Given the description of an element on the screen output the (x, y) to click on. 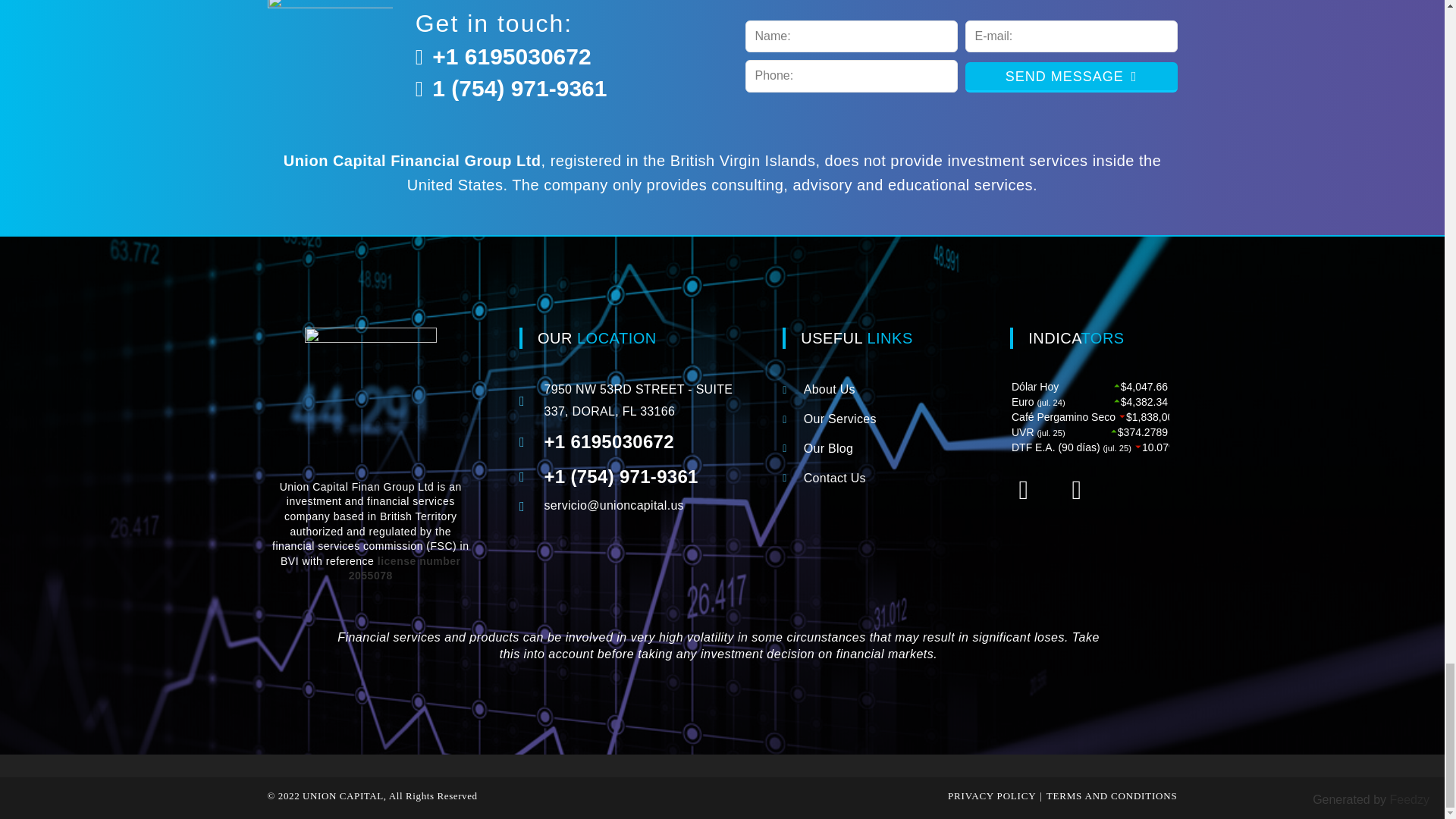
Dolar (1089, 417)
